Given the description of an element on the screen output the (x, y) to click on. 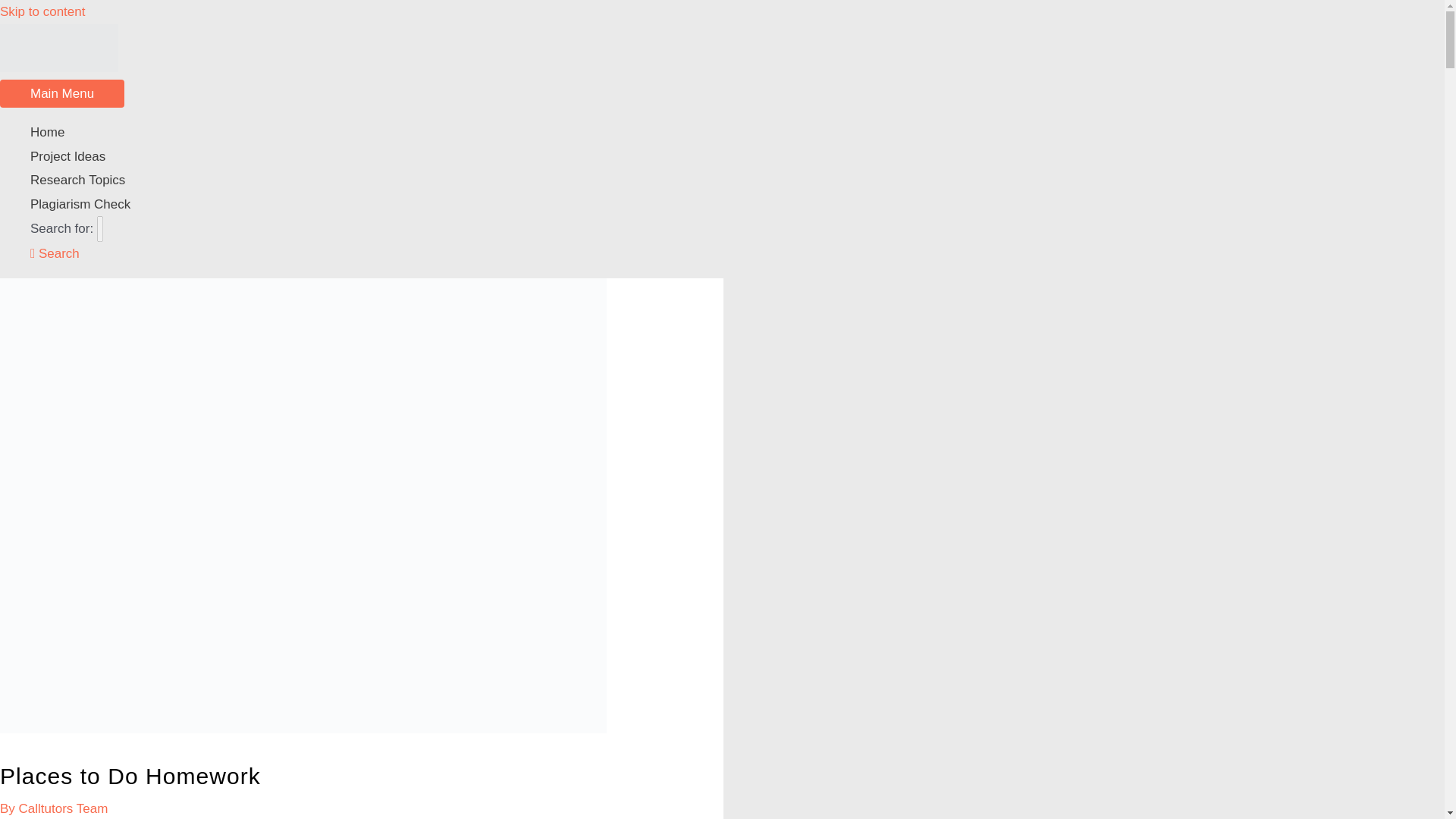
Project Ideas (531, 156)
Skip to content (42, 11)
Research Topics (531, 180)
Home (531, 132)
Calltutors Team (62, 808)
Search (55, 253)
Main Menu (61, 93)
Plagiarism Check (531, 204)
View all posts by Calltutors Team (62, 808)
Skip to content (42, 11)
